Given the description of an element on the screen output the (x, y) to click on. 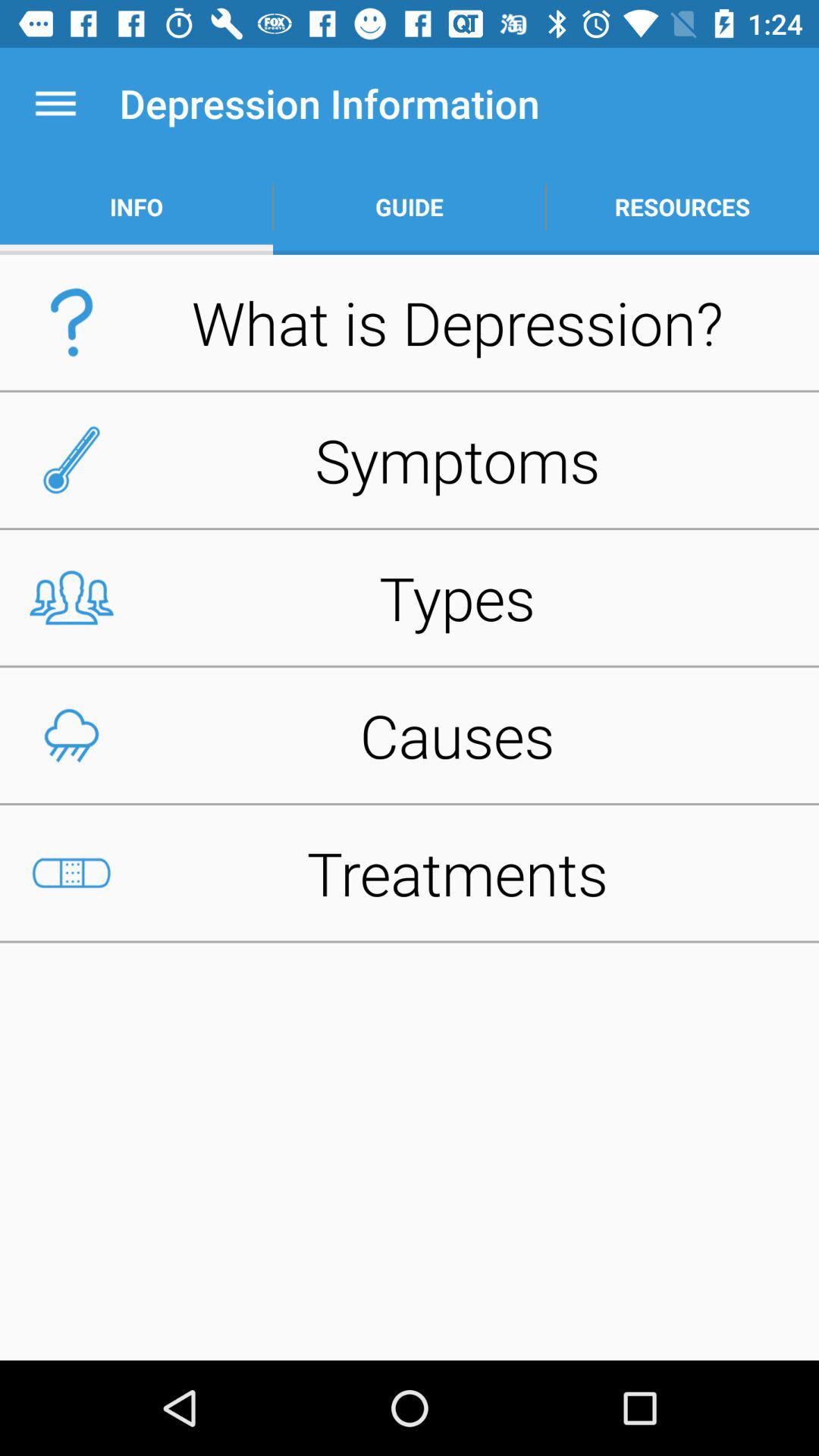
tap the app to the left of guide (136, 206)
